Given the description of an element on the screen output the (x, y) to click on. 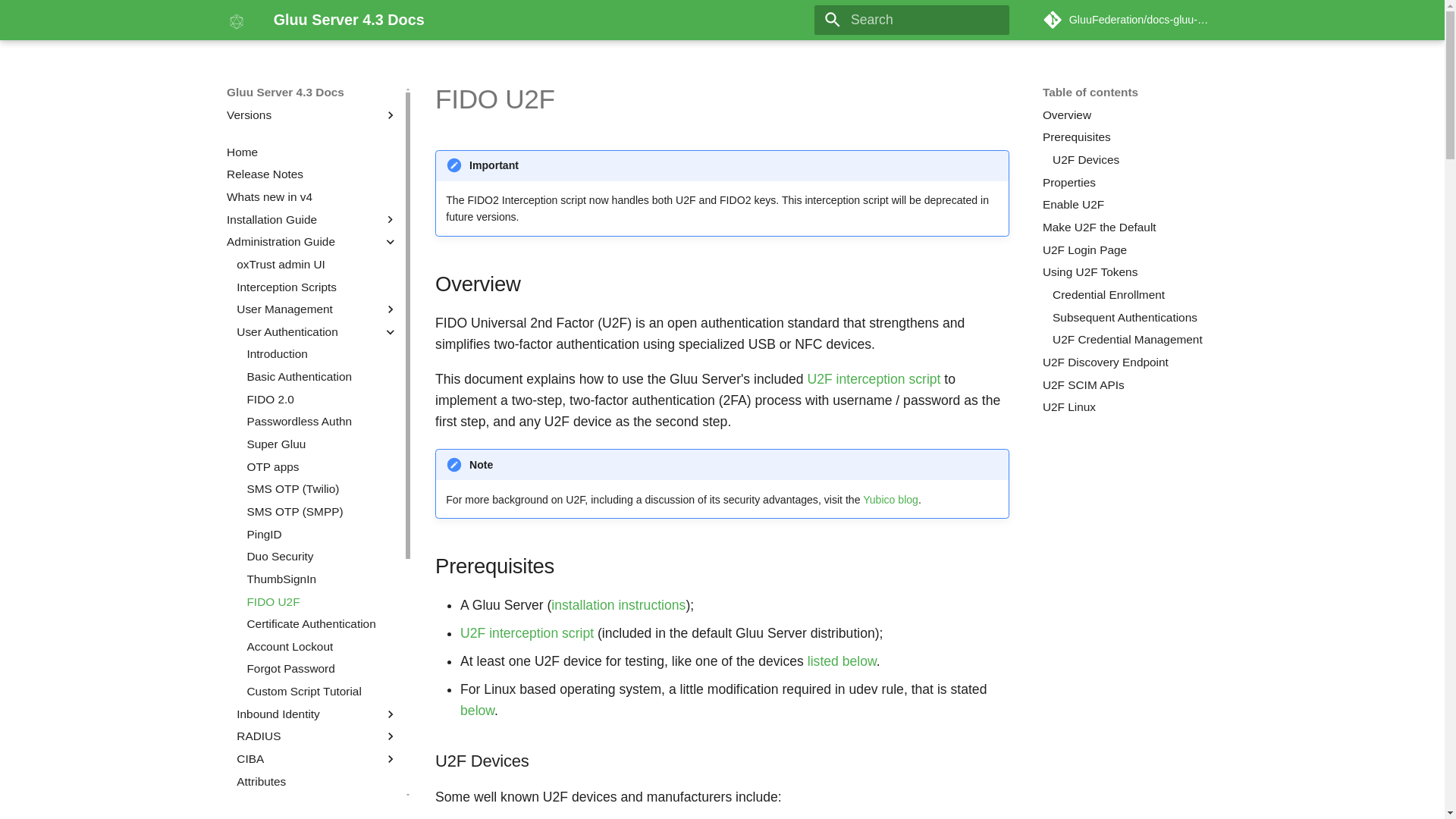
Introduction (321, 353)
Passwordless Authn (321, 421)
FIDO 2.0 (321, 399)
Interception Scripts (316, 287)
Gluu Server 4.3 Docs (236, 19)
Home (312, 151)
Go to repository (1129, 20)
OTP apps (321, 467)
oxTrust admin UI (316, 264)
Super Gluu (321, 444)
Basic Authentication (321, 376)
Release Notes (312, 174)
Whats new in v4 (312, 196)
